Given the description of an element on the screen output the (x, y) to click on. 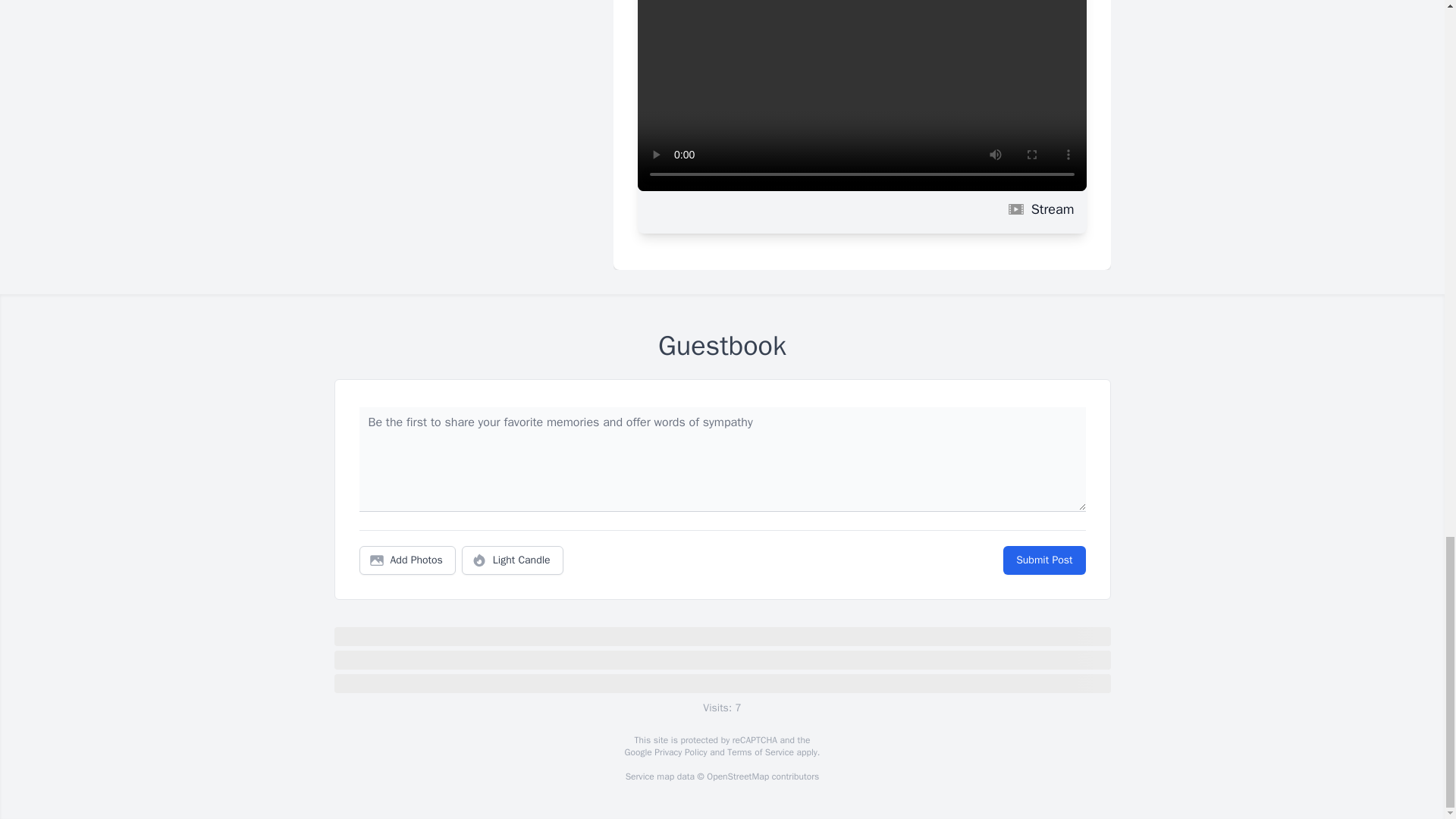
Add Photos (407, 560)
Privacy Policy (679, 752)
Submit Post (1043, 560)
Light Candle (512, 560)
OpenStreetMap (737, 776)
Terms of Service (759, 752)
